Given the description of an element on the screen output the (x, y) to click on. 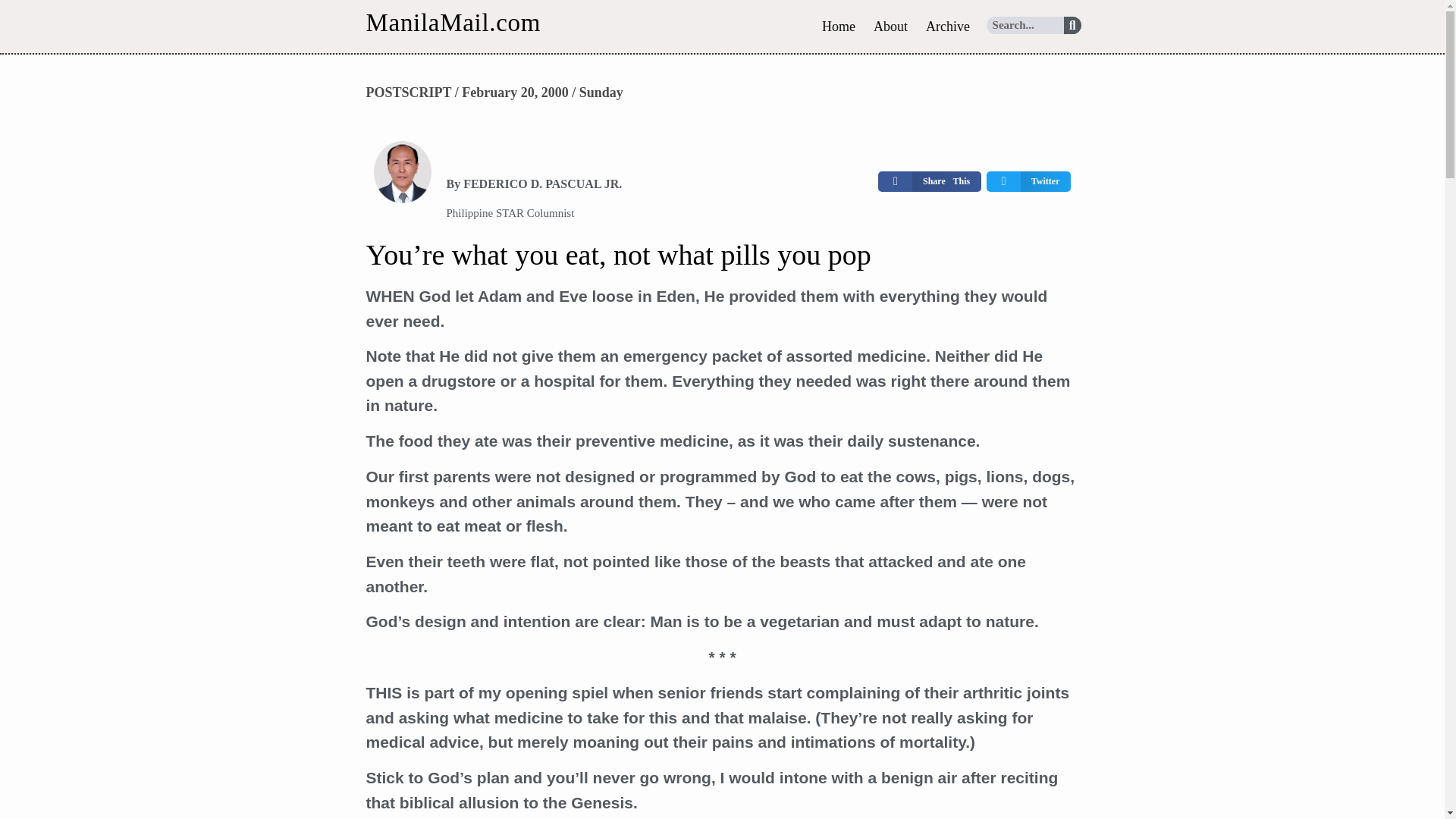
ManilaMail.com (452, 22)
About (890, 26)
Archive (947, 26)
Home (838, 26)
